Given the description of an element on the screen output the (x, y) to click on. 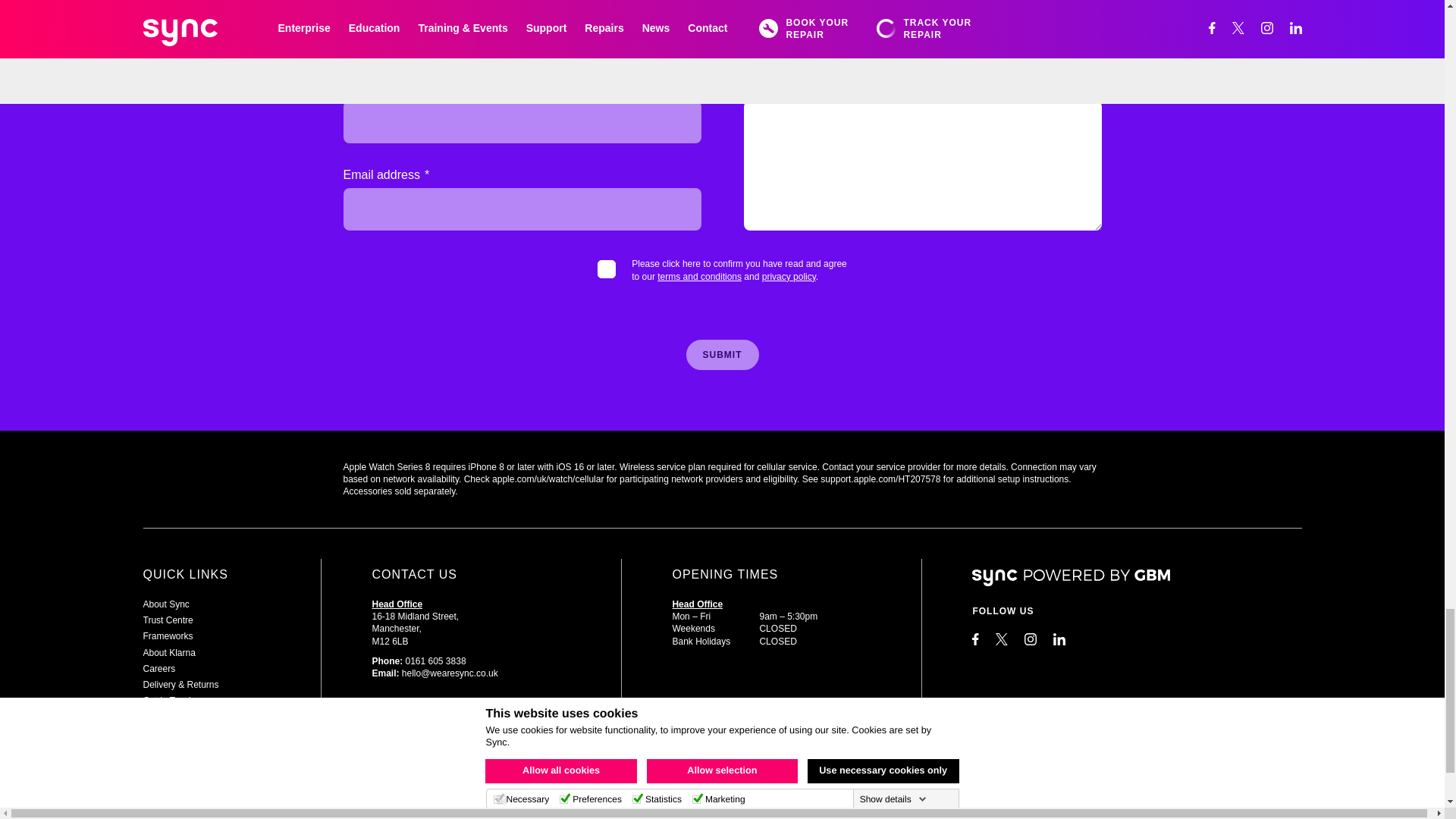
Submit (721, 354)
